Given the description of an element on the screen output the (x, y) to click on. 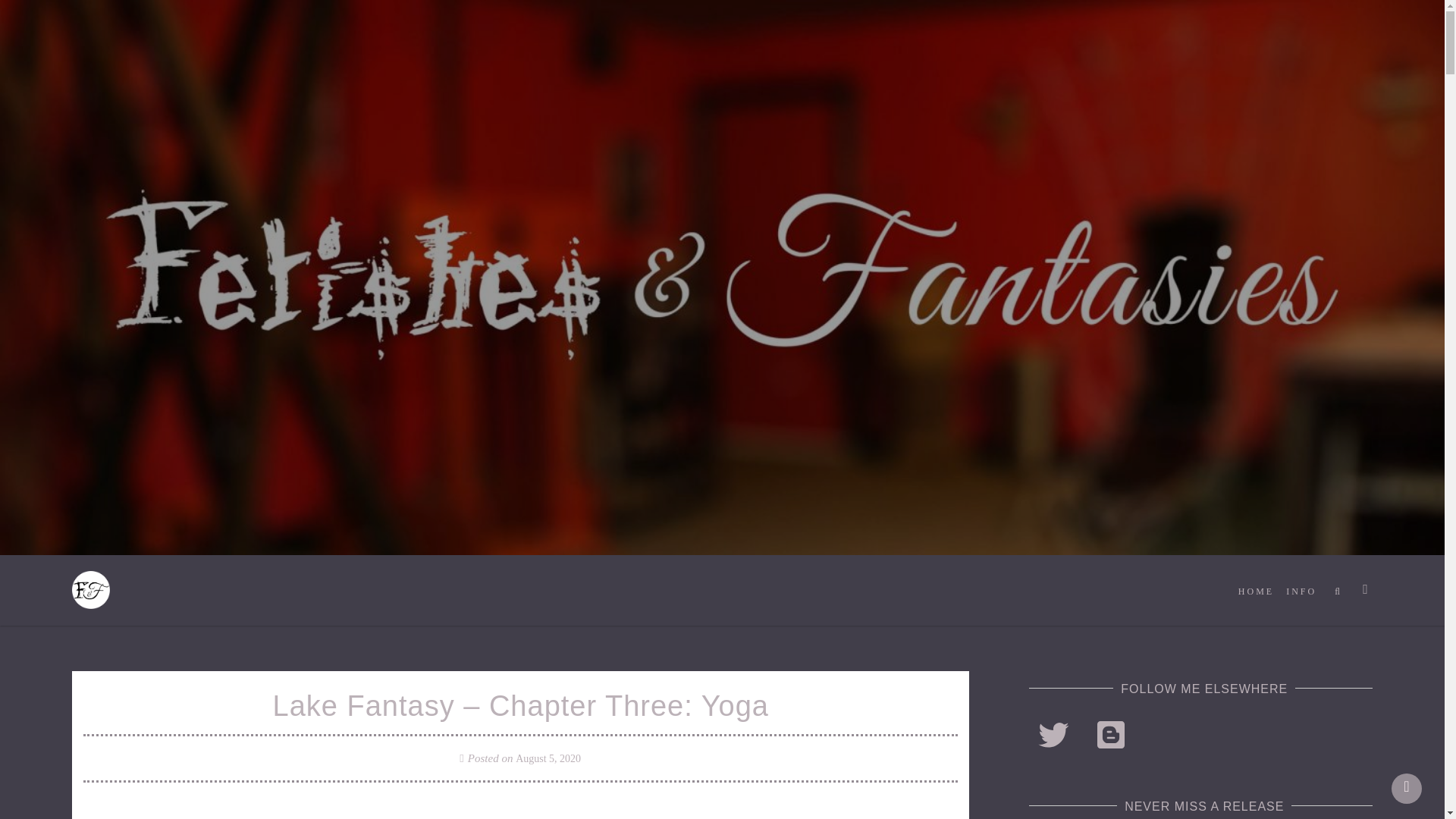
Go to Top (1406, 788)
HOME (1255, 591)
INFO (1300, 591)
August 5, 2020 (547, 759)
